Given the description of an element on the screen output the (x, y) to click on. 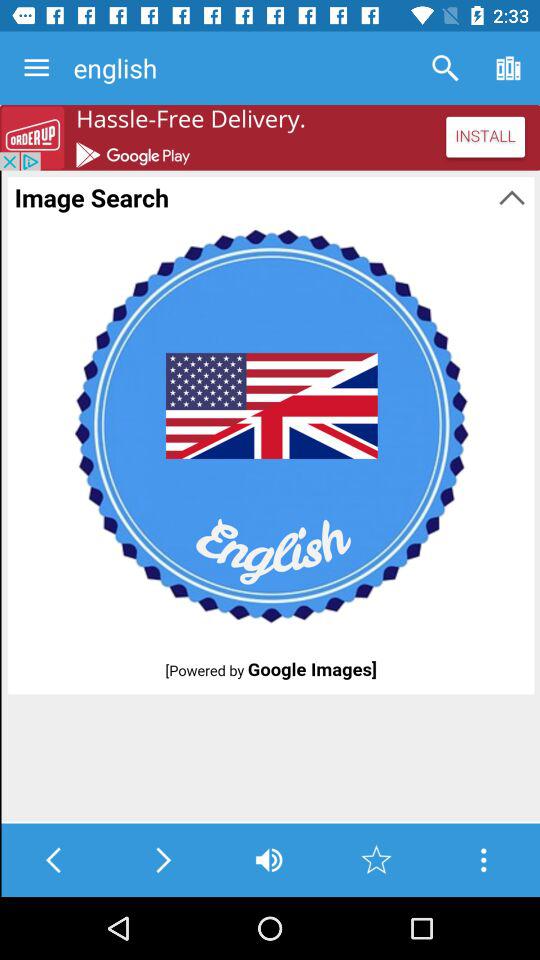
adjust volume (268, 859)
